Given the description of an element on the screen output the (x, y) to click on. 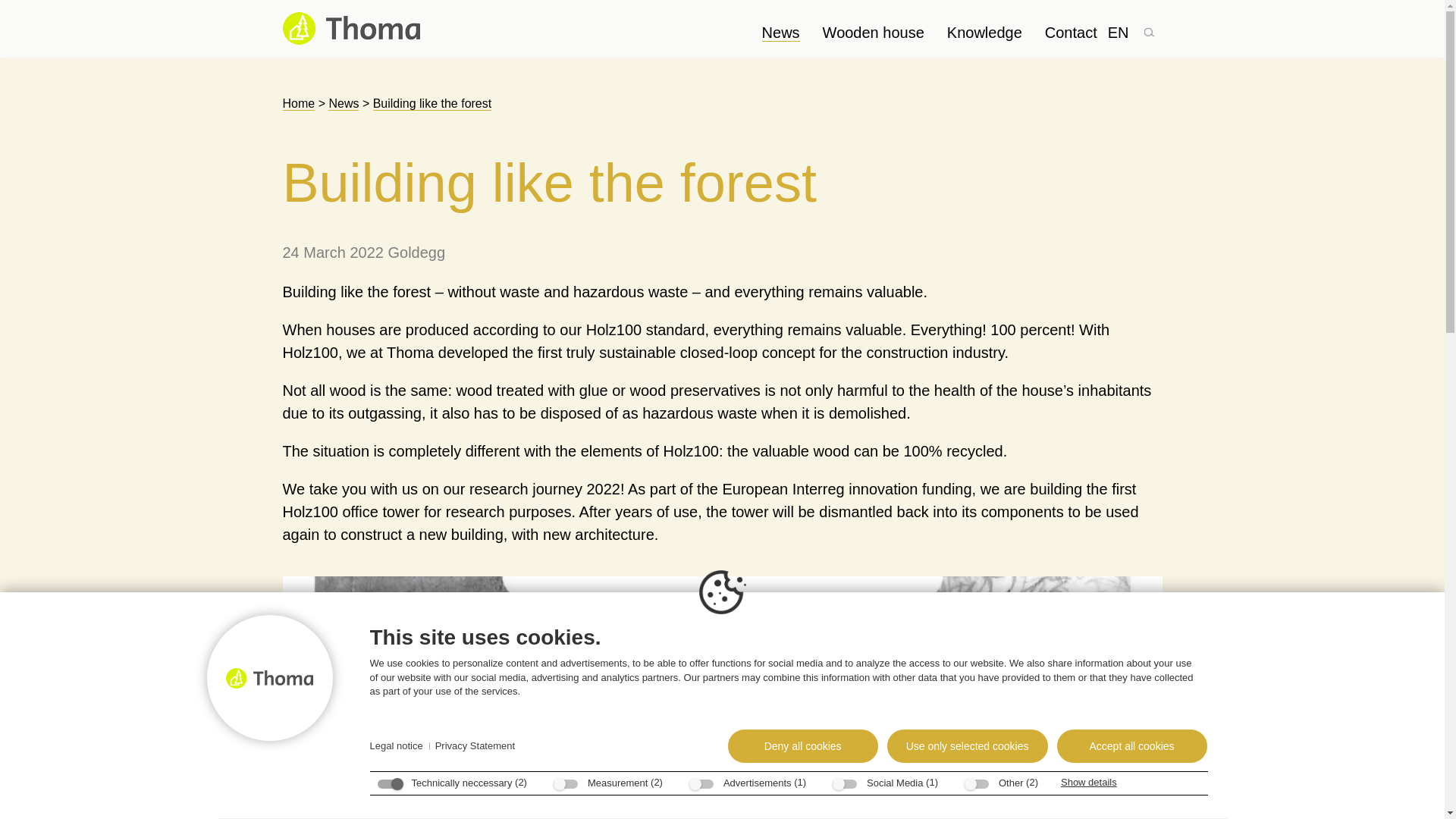
News (780, 32)
Search (1147, 28)
Wooden house (873, 32)
News (343, 103)
Home (298, 103)
Building like the forest (432, 103)
EN (1118, 32)
Knowledge (984, 32)
Contact (1071, 32)
